Given the description of an element on the screen output the (x, y) to click on. 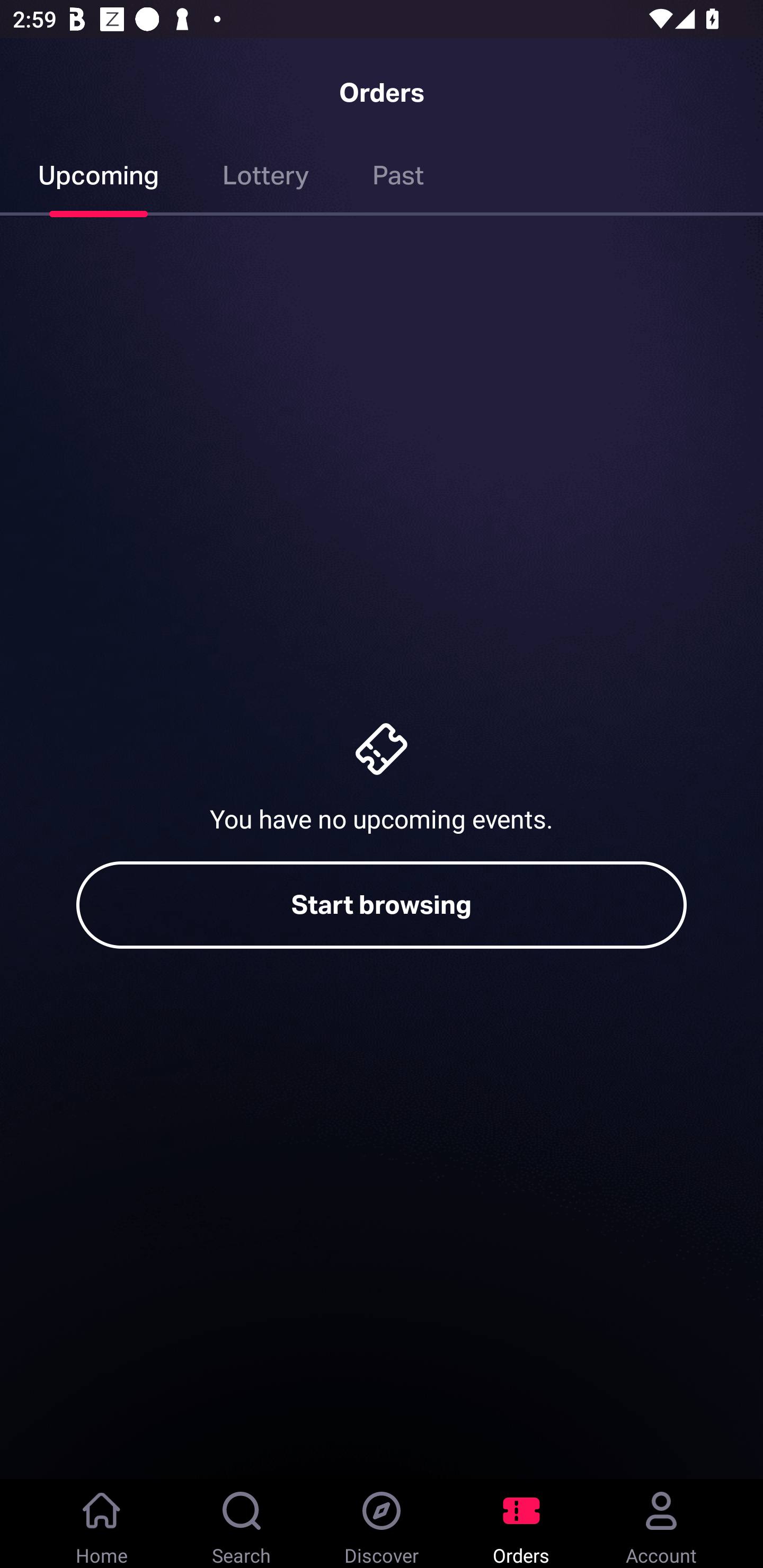
Lottery (265, 179)
Past (398, 179)
Start browsing (381, 904)
Home (101, 1523)
Search (241, 1523)
Discover (381, 1523)
Account (660, 1523)
